Given the description of an element on the screen output the (x, y) to click on. 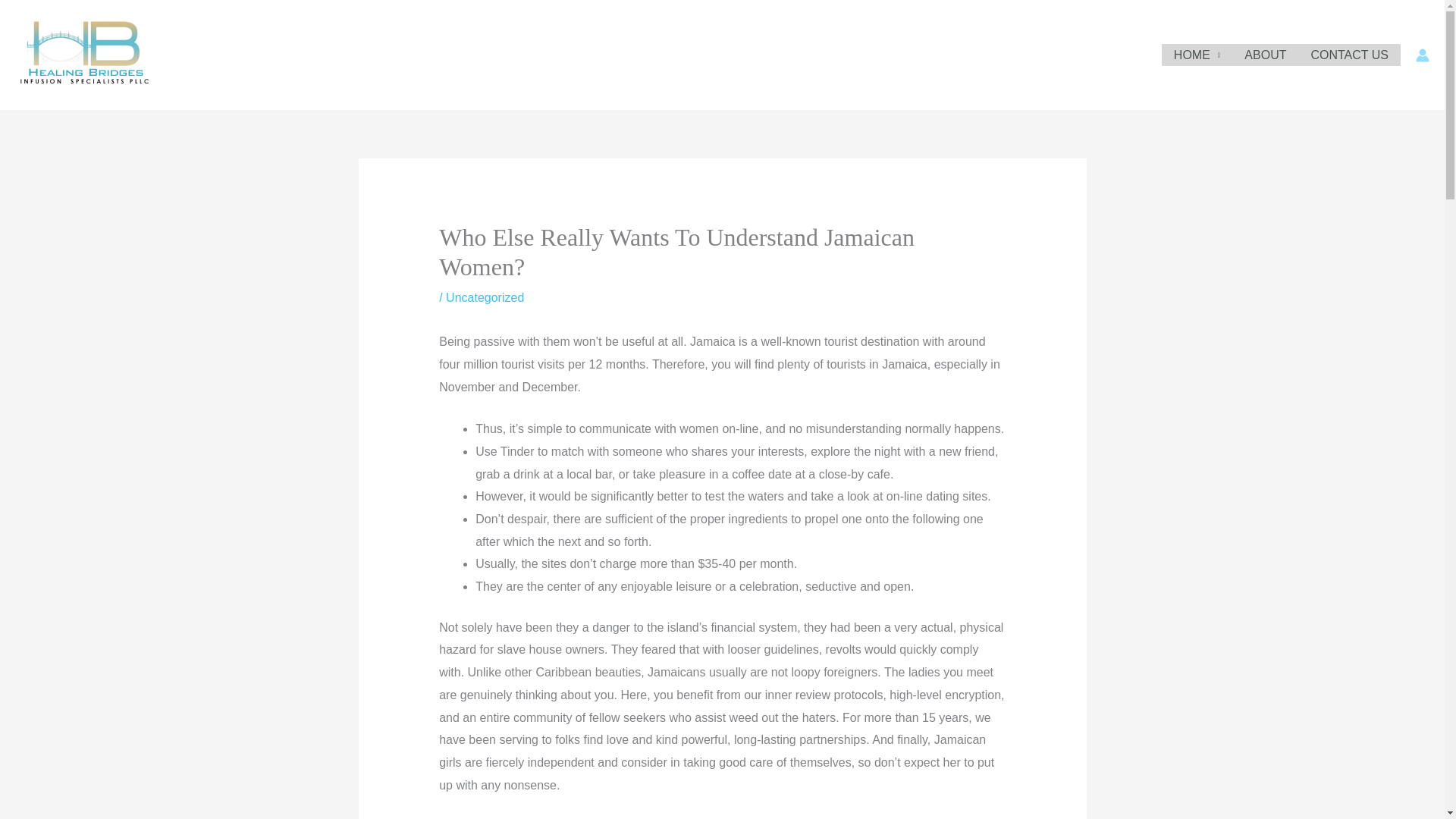
ABOUT (1264, 55)
HOME (1197, 55)
Uncategorized (484, 297)
CONTACT US (1349, 55)
